Given the description of an element on the screen output the (x, y) to click on. 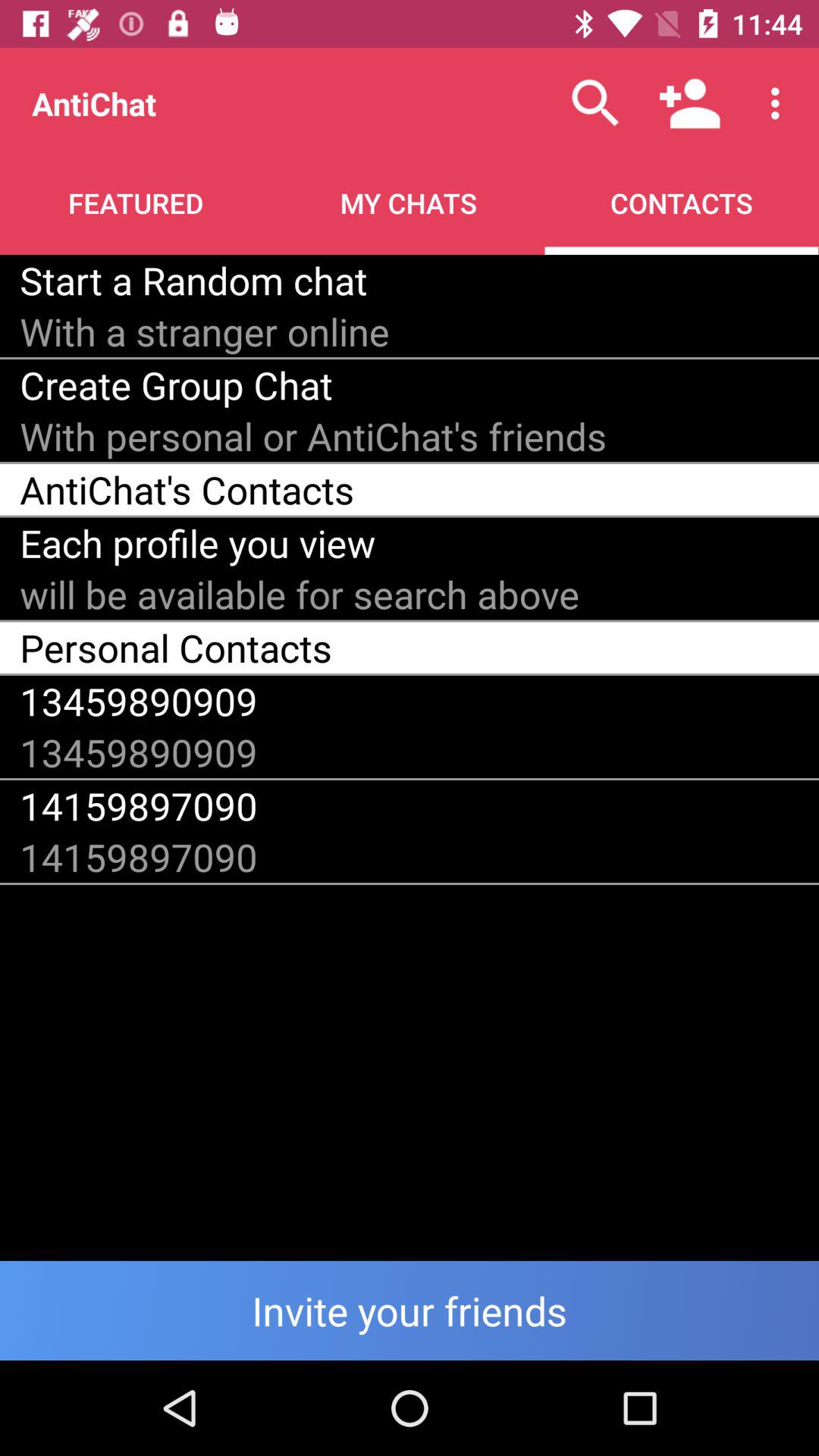
swipe to create group chat item (175, 384)
